Given the description of an element on the screen output the (x, y) to click on. 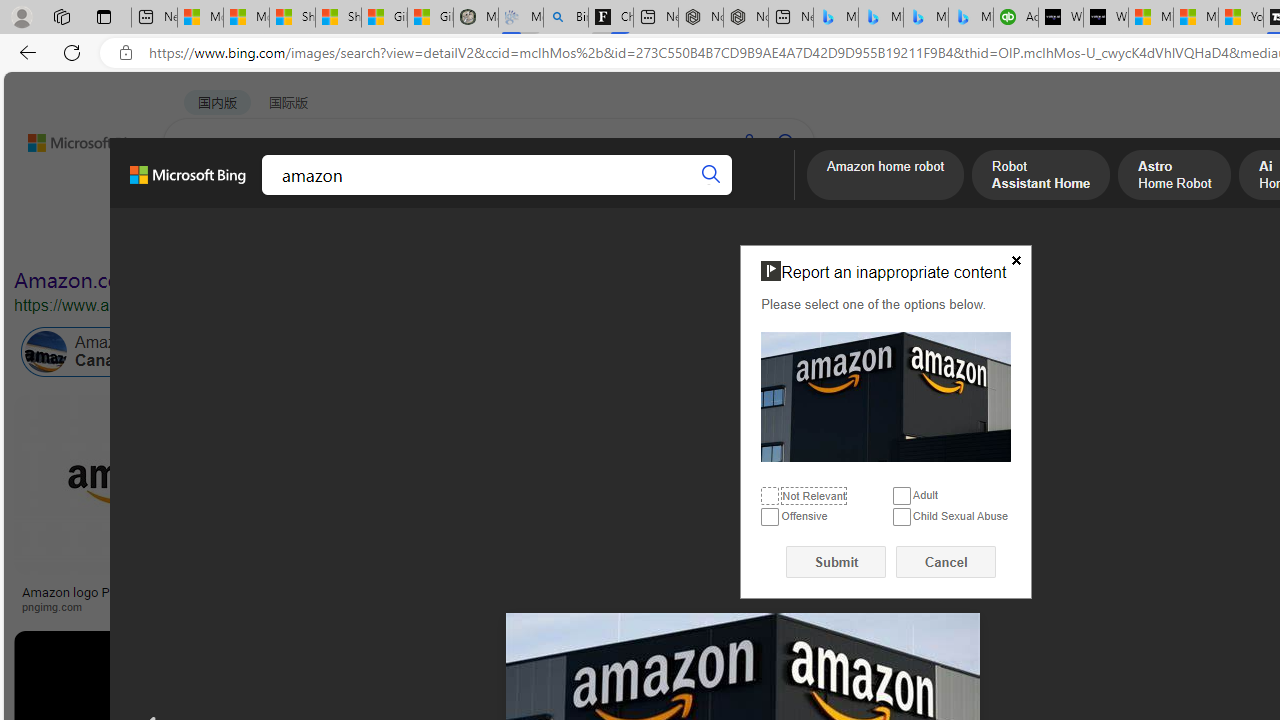
Amazon India (893, 351)
WEB (201, 195)
Layout (443, 237)
Image size (222, 237)
Image result for amazon (982, 485)
Color (305, 237)
Amazon Prime Online (303, 351)
Amazon Cloud (564, 351)
Amazon Canada Online (45, 351)
Listen: What's next for Amazon? (639, 592)
People (520, 237)
Cancel (946, 561)
mytotalretail.com (396, 606)
